Given the description of an element on the screen output the (x, y) to click on. 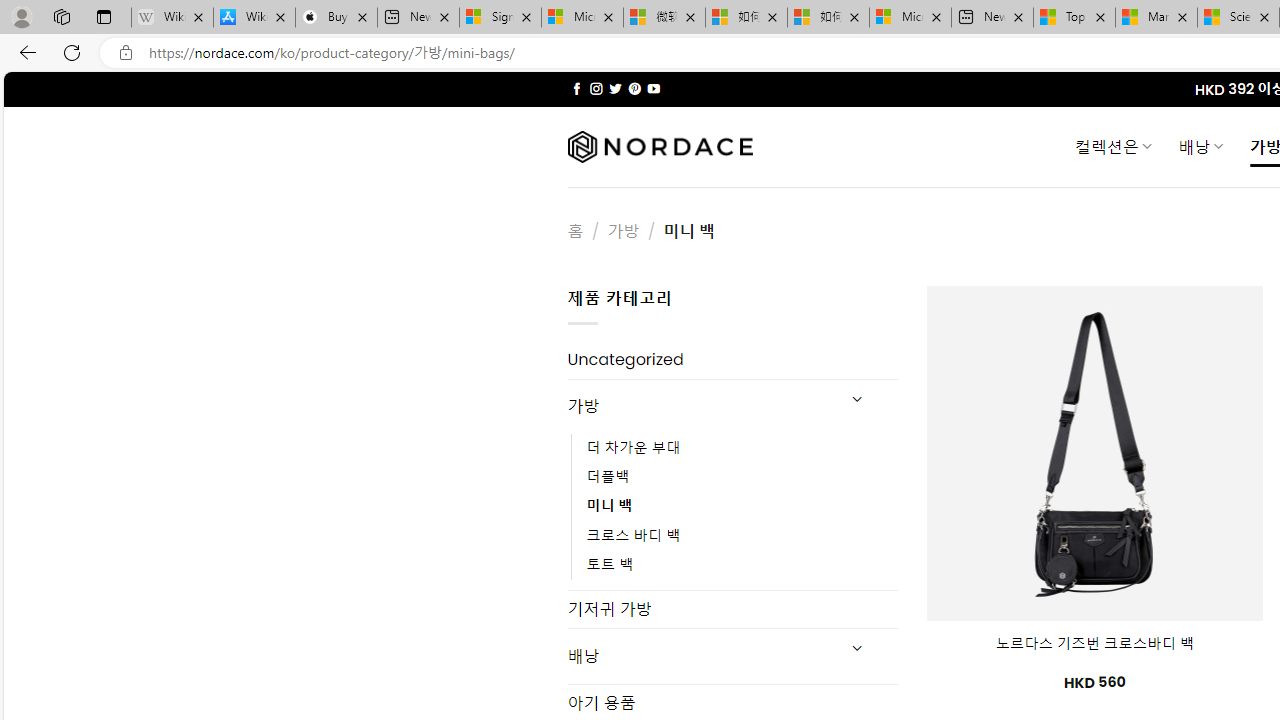
Uncategorized (732, 359)
Follow on Pinterest (634, 88)
Follow on YouTube (653, 88)
